Given the description of an element on the screen output the (x, y) to click on. 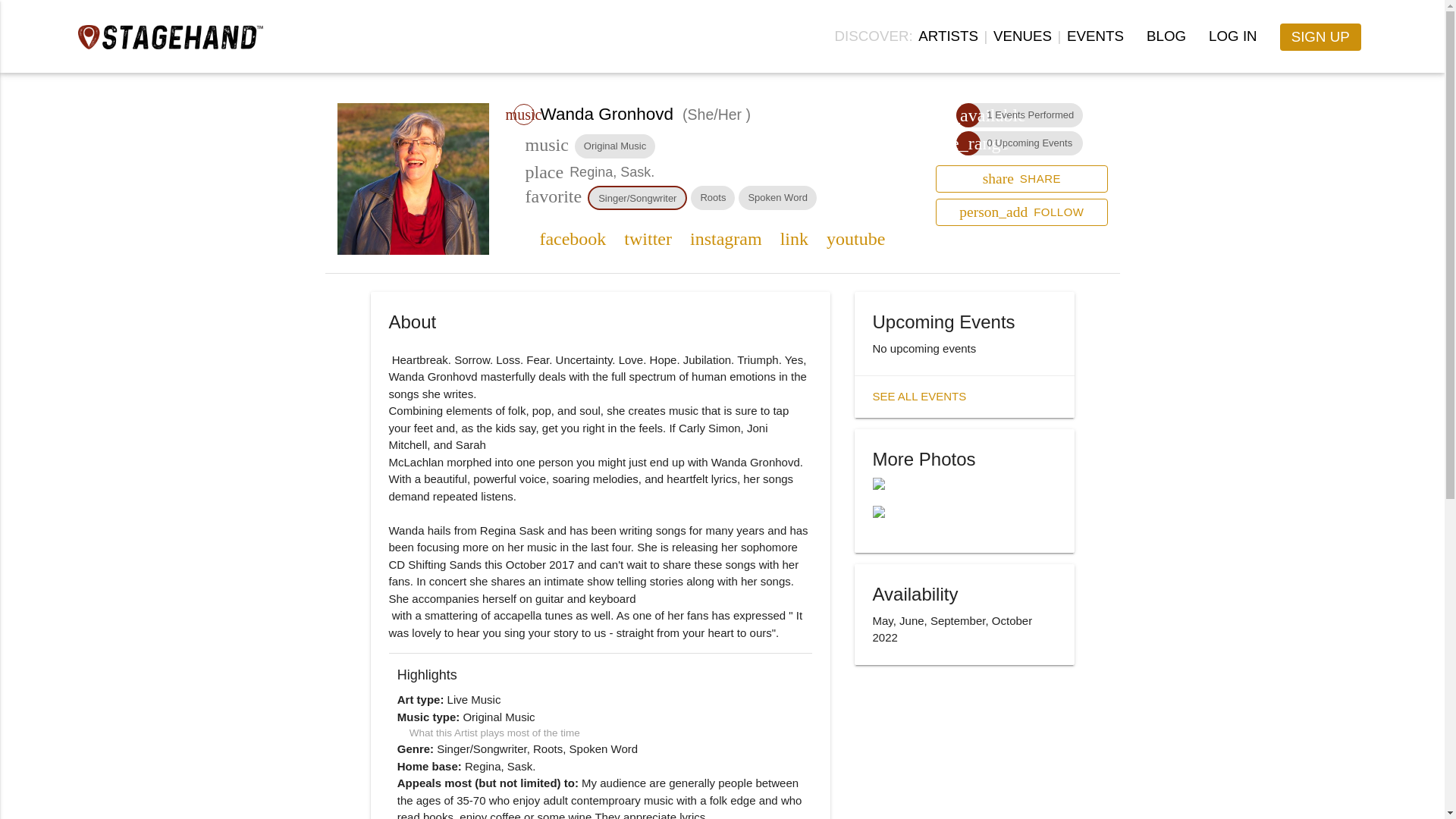
twitter (647, 240)
link (794, 240)
ARTISTS (948, 35)
1 Events Performed (1030, 114)
youtube (856, 240)
EVENTS (1095, 35)
LOG IN (1232, 35)
instagram (725, 240)
VENUES (1021, 178)
facebook (1021, 35)
0 Upcoming Events (571, 240)
BLOG (1029, 142)
SEE ALL EVENTS (1166, 35)
SIGN UP (919, 395)
